Given the description of an element on the screen output the (x, y) to click on. 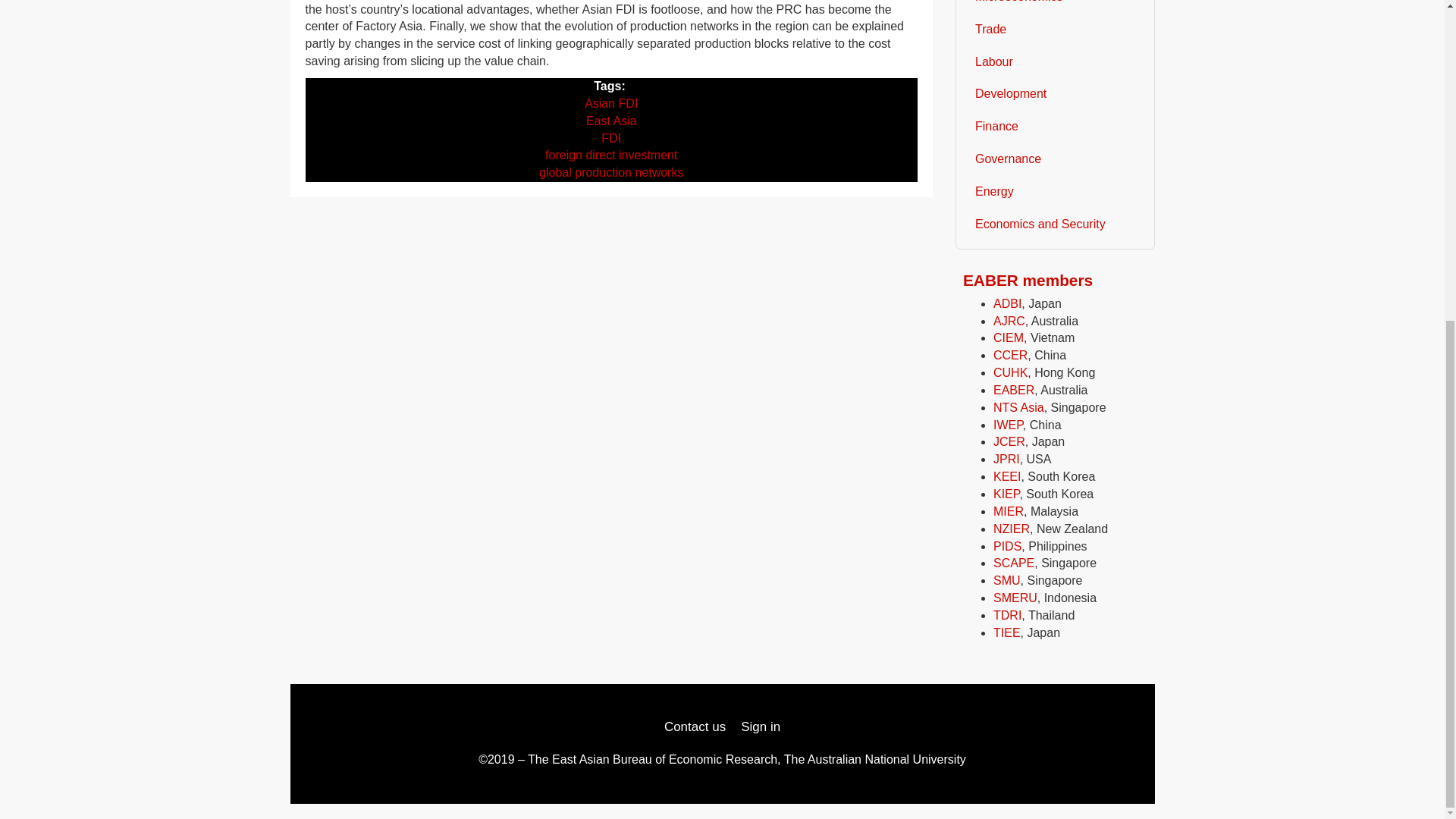
foreign direct investment (610, 154)
Governance (1055, 159)
East Asia (611, 120)
global production networks (610, 172)
Labour (1055, 61)
ADBI (1007, 303)
Microeconomics (1055, 6)
Trade (1055, 29)
Development (1055, 93)
Asian FDI (611, 103)
